Given the description of an element on the screen output the (x, y) to click on. 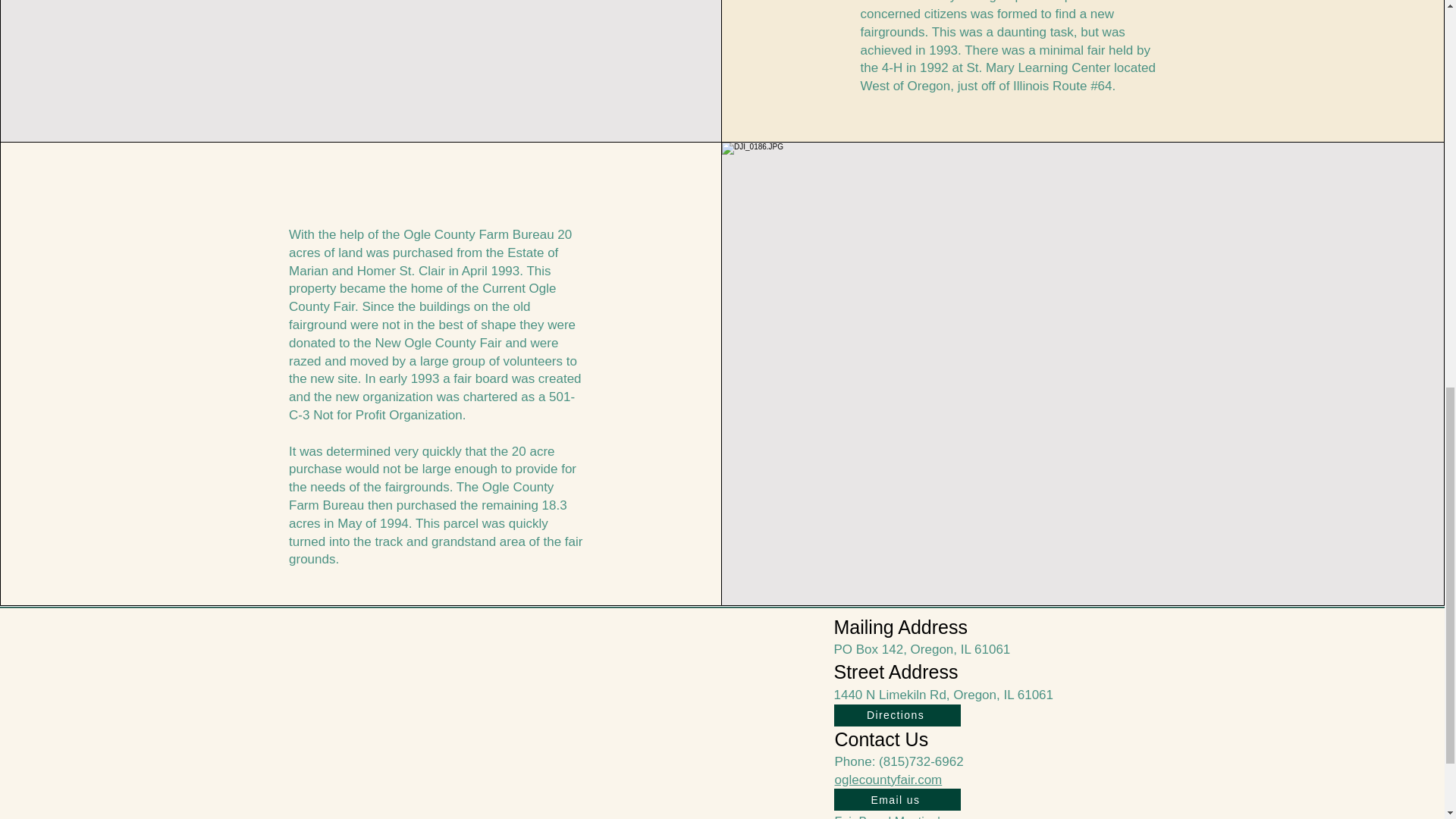
oglecountyfair.com (888, 780)
Email us (897, 799)
Directions (897, 715)
